Given the description of an element on the screen output the (x, y) to click on. 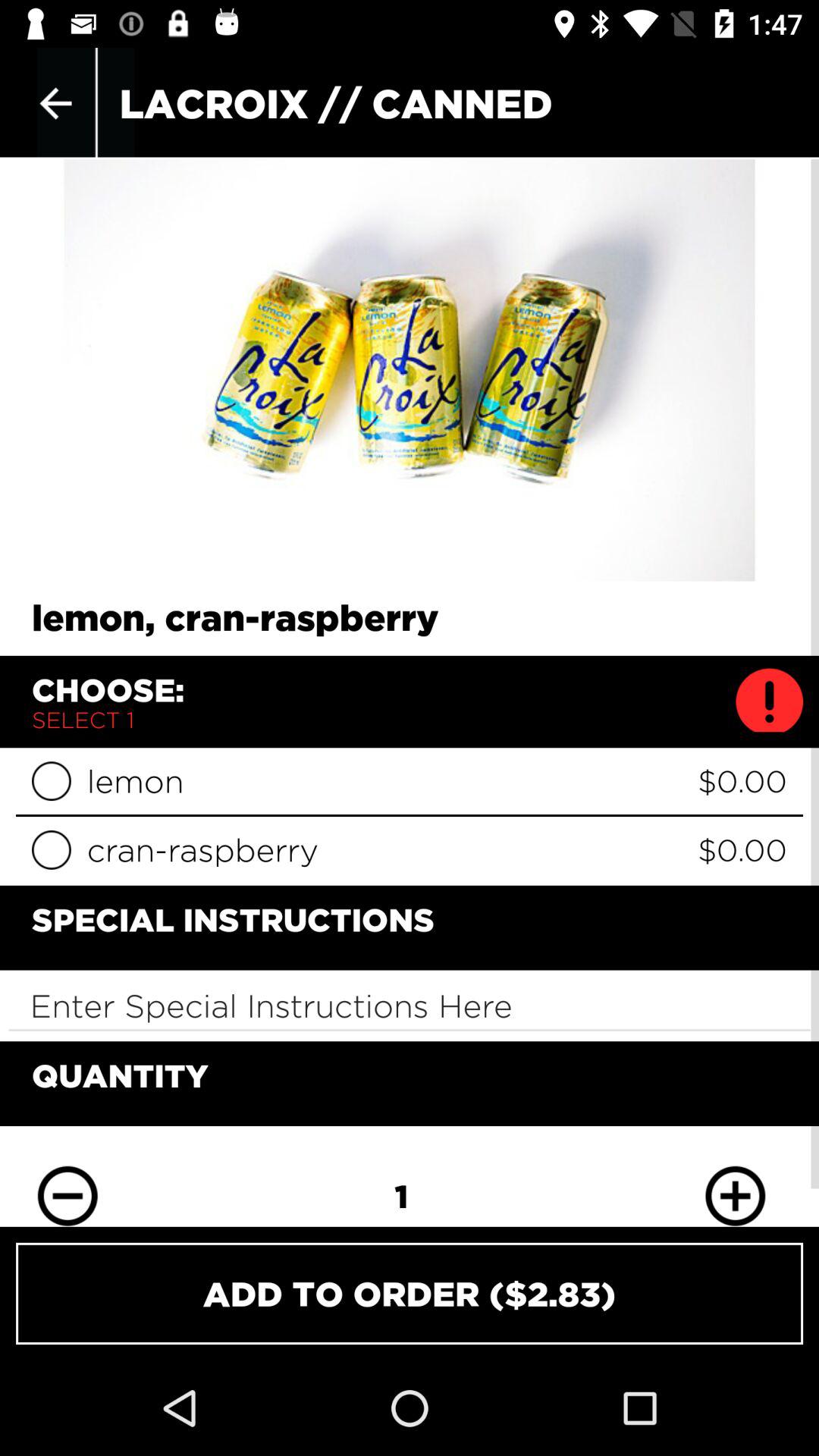
select the item to the left of lacroix // canned item (55, 103)
